Given the description of an element on the screen output the (x, y) to click on. 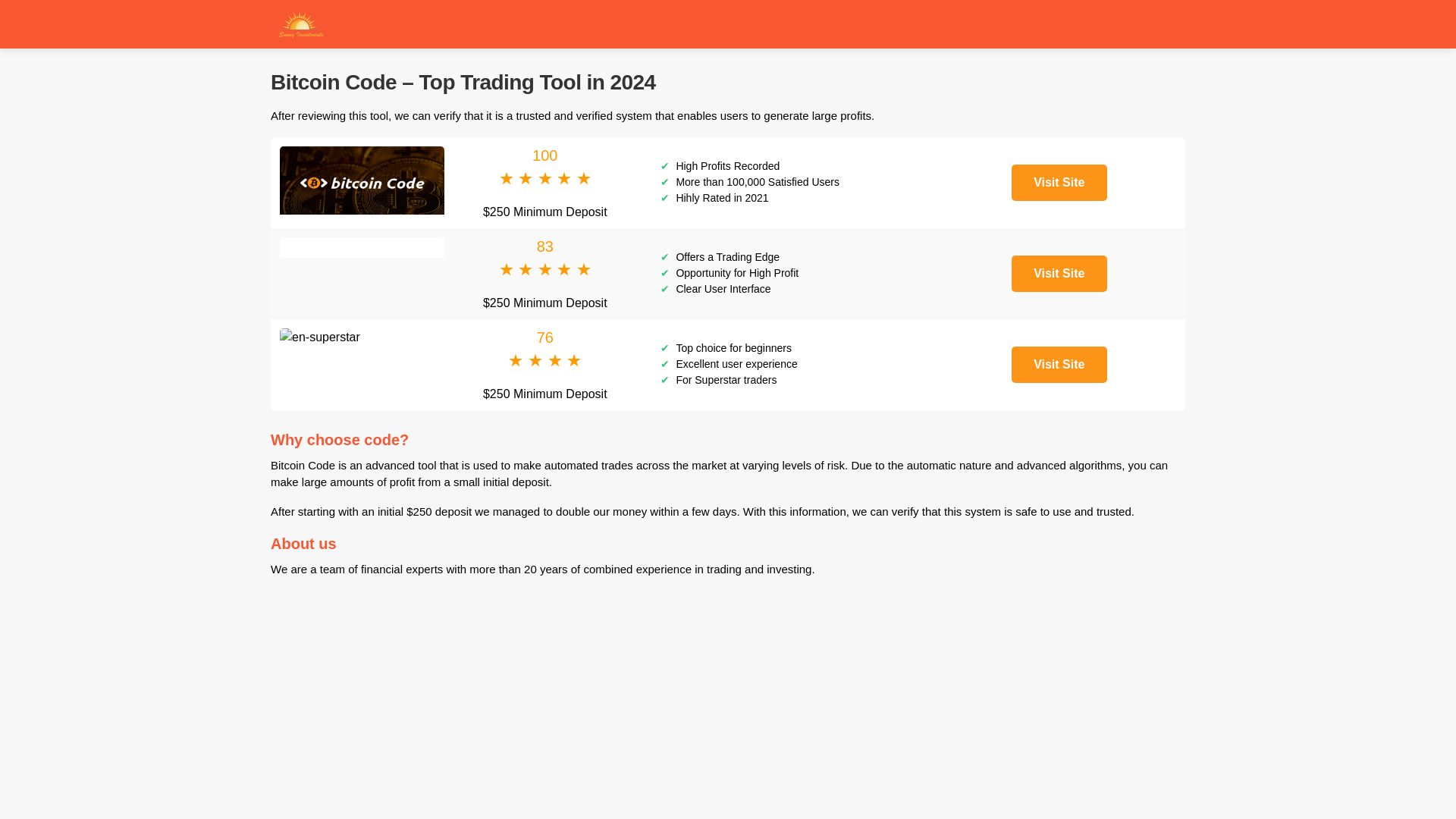
Visit Site (1058, 363)
Visit Site (1058, 181)
Visit Site (1058, 272)
